Given the description of an element on the screen output the (x, y) to click on. 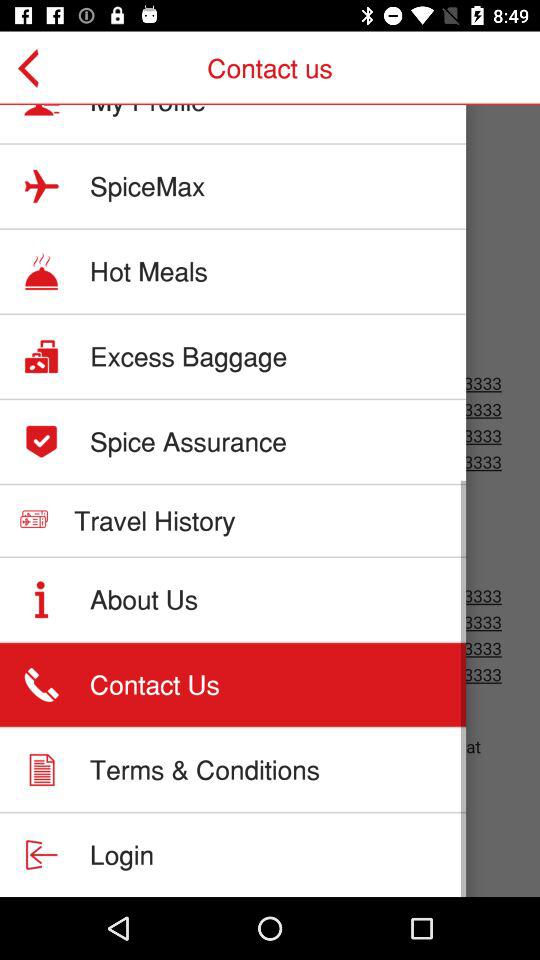
launch item below the excess baggage item (188, 441)
